Given the description of an element on the screen output the (x, y) to click on. 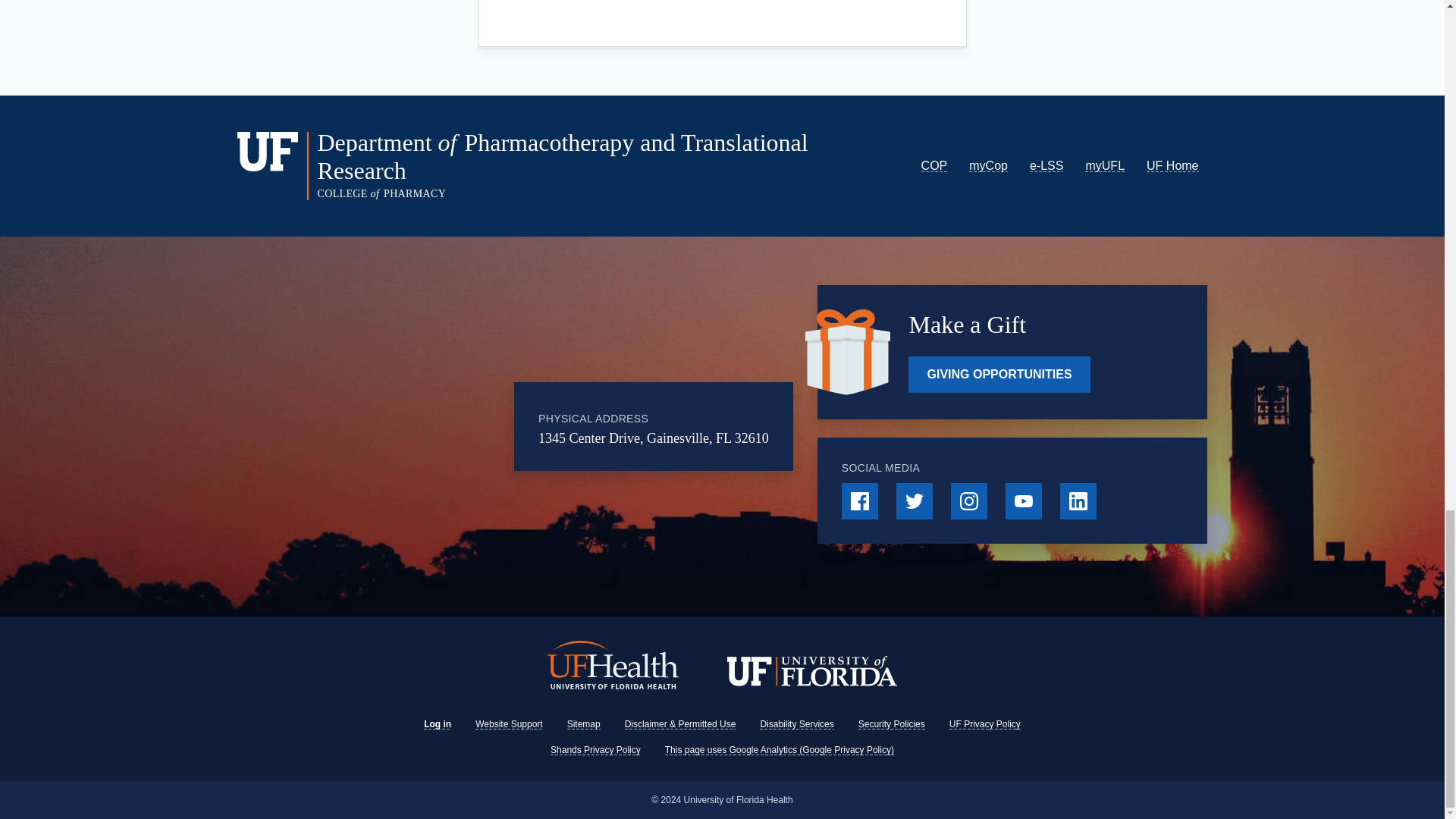
Google Maps Embed (423, 426)
Sitemap (583, 724)
Log in (437, 724)
myCop (988, 164)
Disability Services (796, 724)
myUFL (1104, 164)
UF Home (1172, 164)
e-LSS (1045, 164)
COP (934, 164)
Security Policies (891, 724)
Shands Privacy Policy (595, 749)
UF Privacy Policy (984, 724)
Website Support (509, 724)
